Given the description of an element on the screen output the (x, y) to click on. 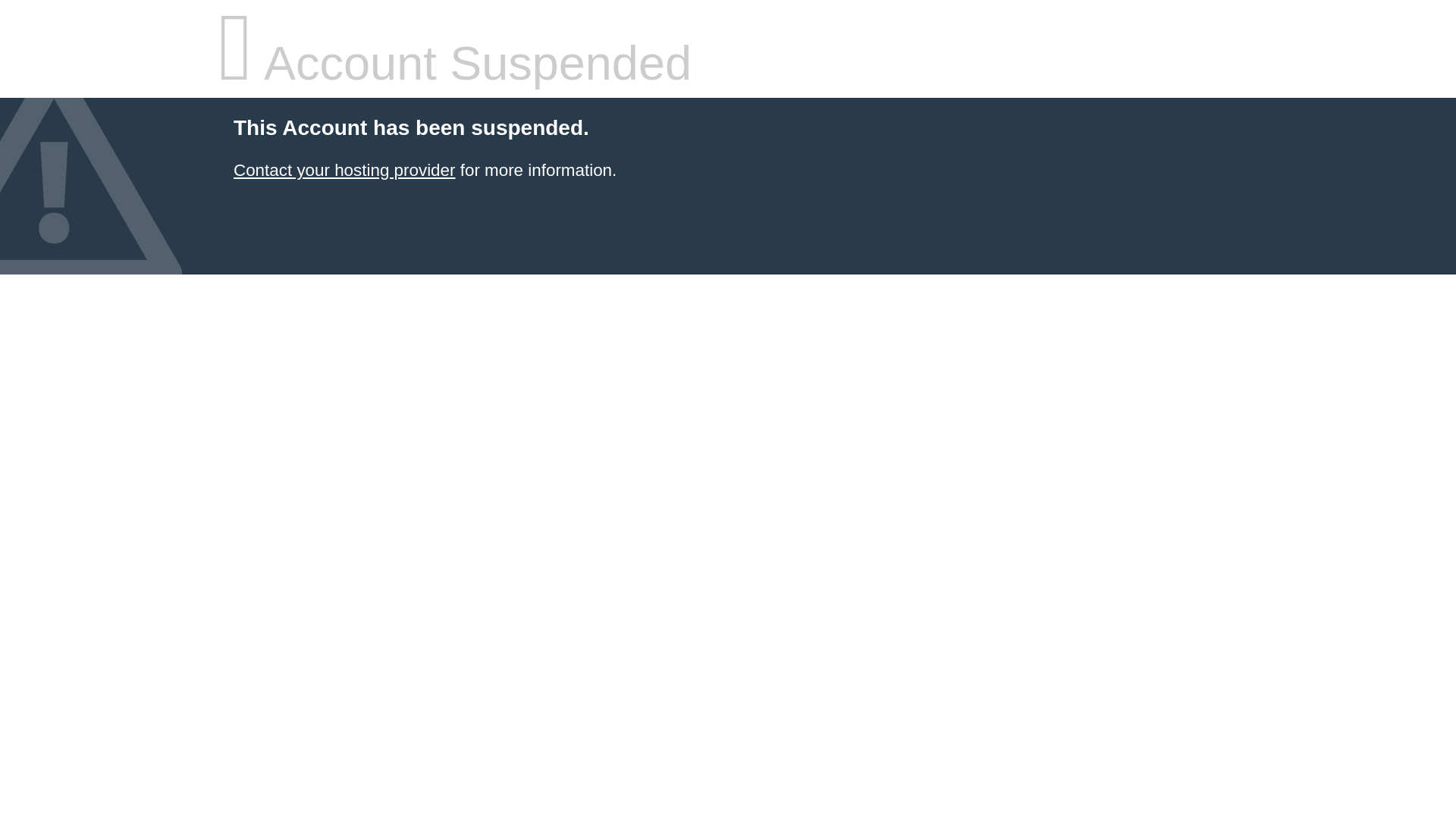
Contact your hosting provider (343, 169)
